Given the description of an element on the screen output the (x, y) to click on. 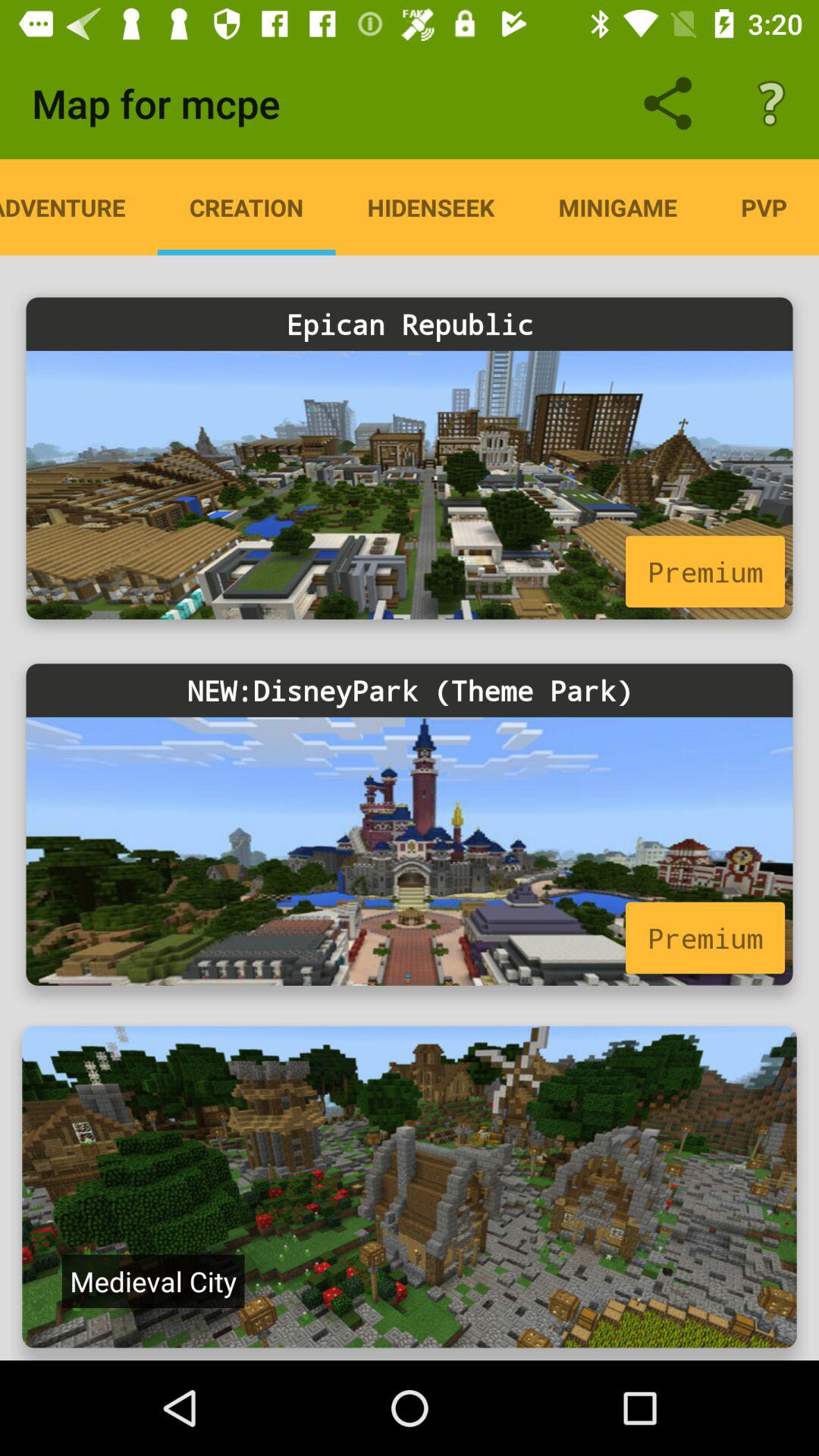
select the share icon left to the question mark (668, 103)
select pvp (764, 207)
select medieval city (153, 1281)
click on the last image (409, 1183)
select the second image from the creation (409, 824)
select the text hidenseek in the yellow background (431, 207)
